Given the description of an element on the screen output the (x, y) to click on. 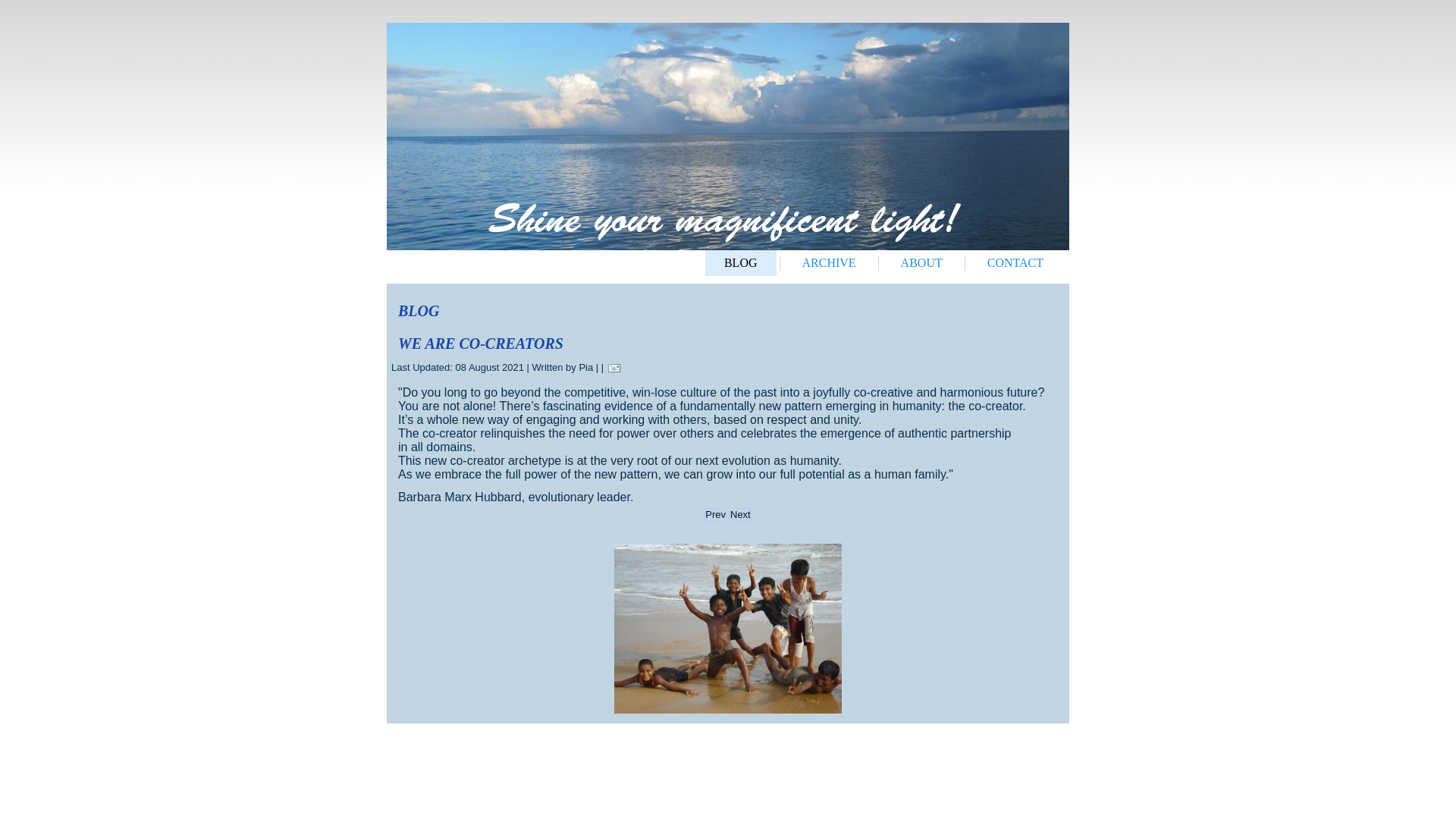
Prev (715, 513)
ABOUT (921, 263)
Next (740, 513)
ARCHIVE (829, 263)
Email this link to a friend (614, 367)
BLOG (740, 263)
CONTACT (1015, 263)
